Given the description of an element on the screen output the (x, y) to click on. 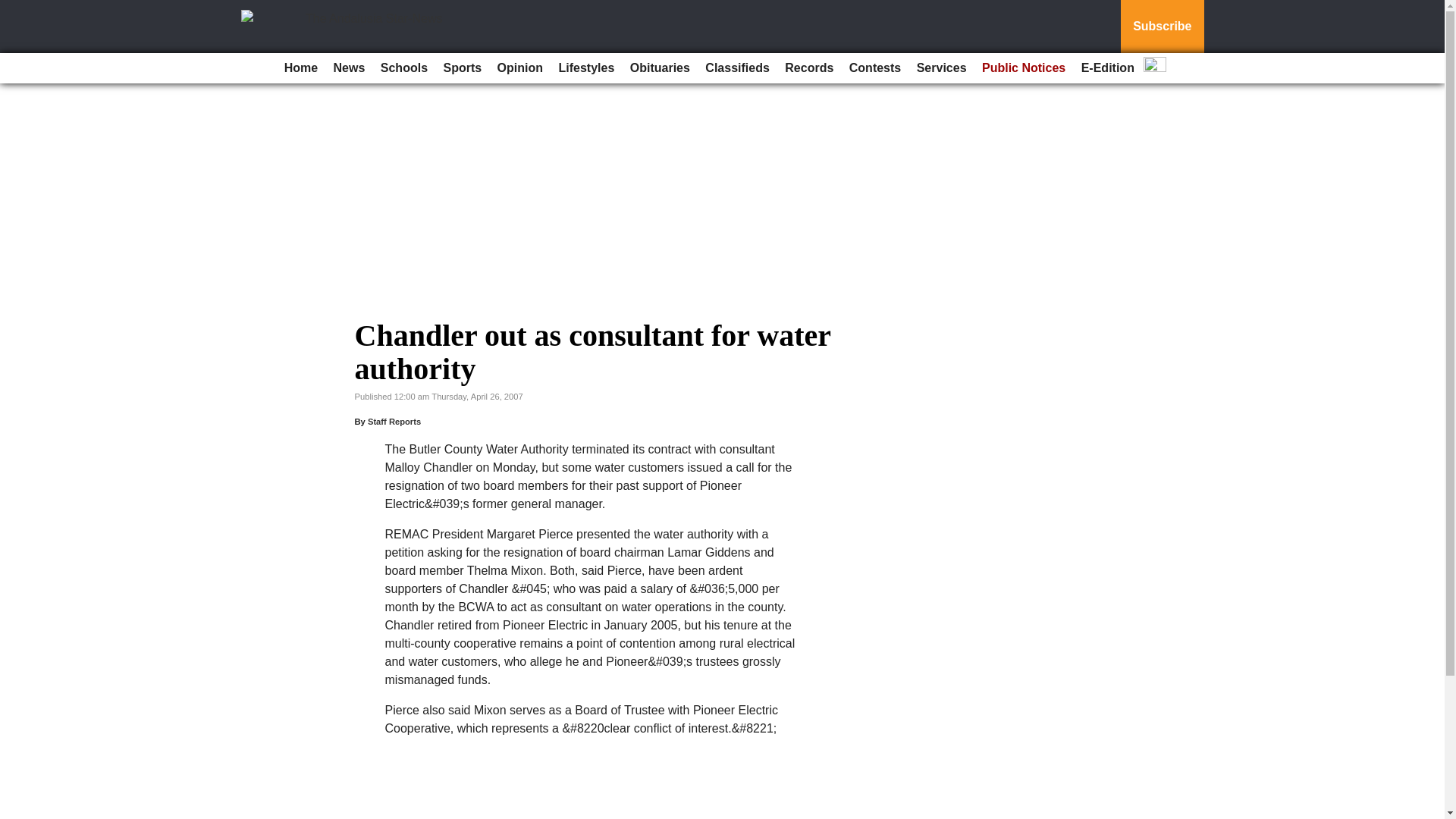
Obituaries (659, 68)
Records (809, 68)
Staff Reports (394, 420)
Public Notices (1023, 68)
Schools (403, 68)
E-Edition (1107, 68)
Classifieds (736, 68)
Lifestyles (585, 68)
Sports (461, 68)
Opinion (520, 68)
